Given the description of an element on the screen output the (x, y) to click on. 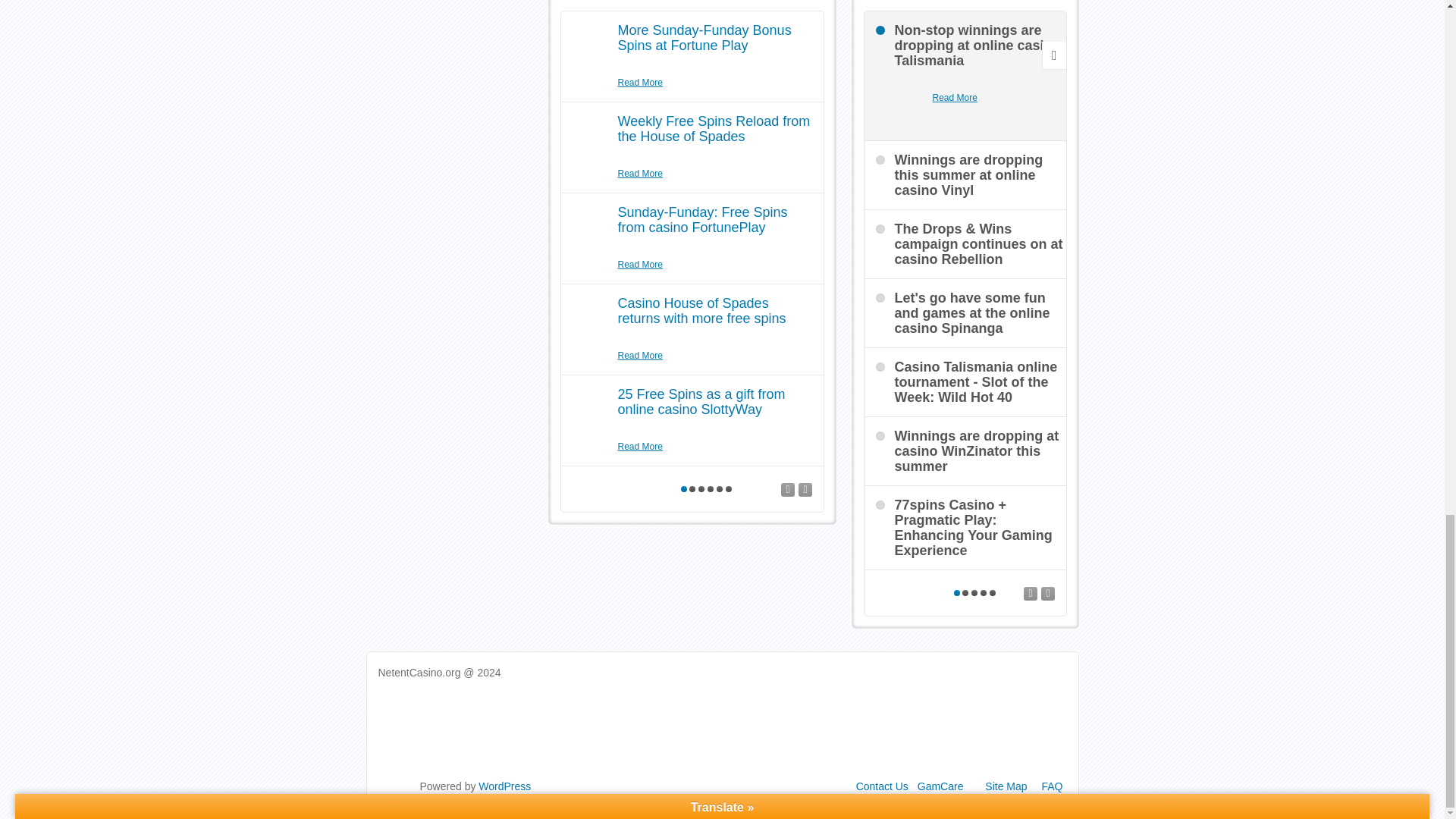
Site Map (1005, 786)
More Sunday-Funday Bonus Spins at Fortune Play (703, 37)
Read More (639, 173)
25 Free Spins as a gift from online casino SlottyWay (700, 401)
Contact Us (882, 786)
Read More (639, 83)
Read More (639, 446)
Read More (639, 264)
Casino House of Spades returns with more free spins (701, 310)
Read More (639, 355)
Sunday-Funday: Free Spins from casino FortunePlay (702, 219)
Gambling Help (940, 786)
Weekly Free Spins Reload from the House of Spades (713, 128)
FAQ (1051, 786)
Read More (954, 97)
